Given the description of an element on the screen output the (x, y) to click on. 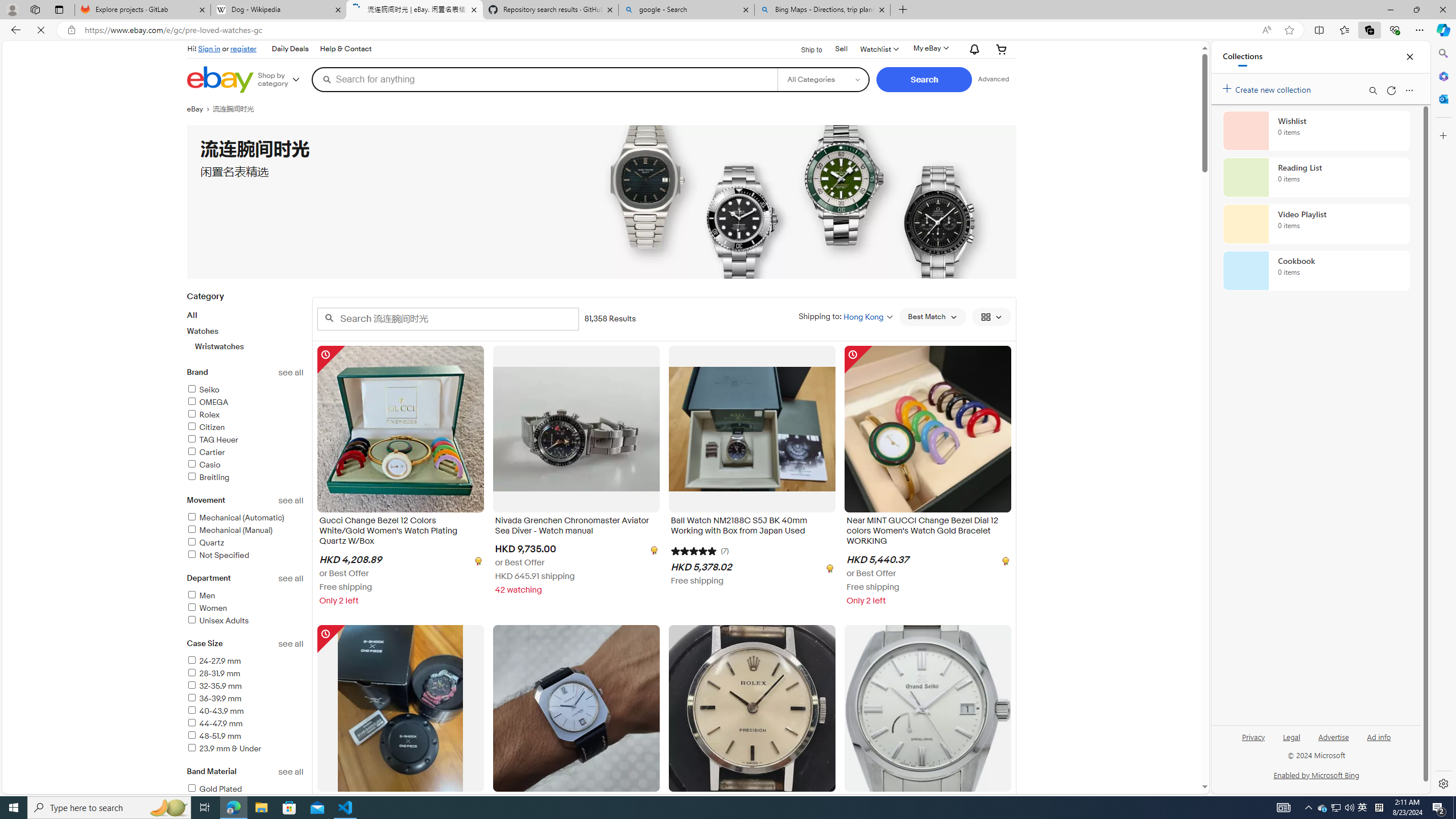
Sign in (209, 48)
